Given the description of an element on the screen output the (x, y) to click on. 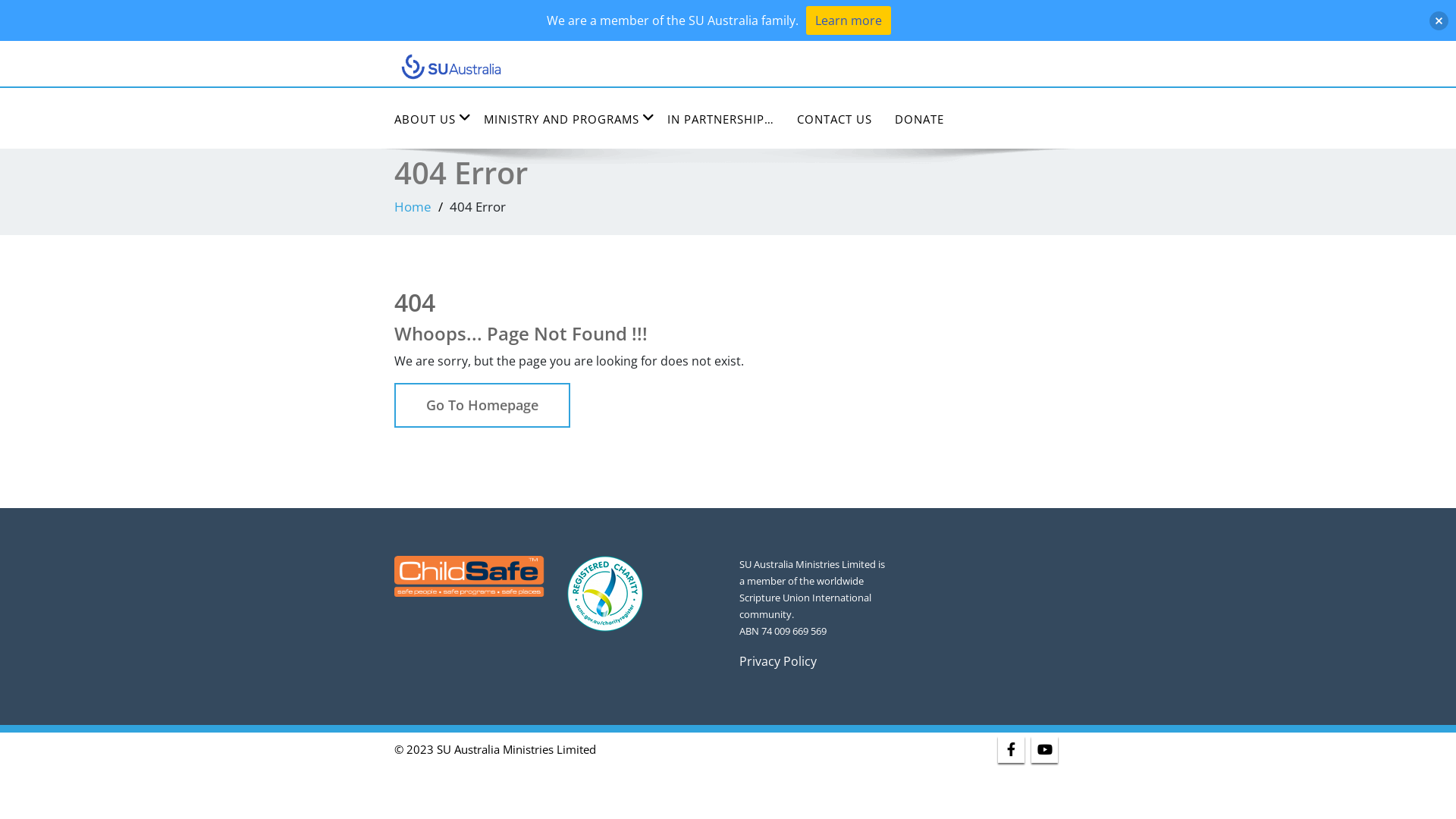
Home Element type: text (412, 206)
Privacy Policy Element type: text (777, 660)
Learn more Element type: text (847, 20)
CONTACT US Element type: text (834, 119)
MINISTRY AND PROGRAMS Element type: text (563, 119)
ABOUT US Element type: text (427, 119)
Go To Homepage Element type: text (482, 405)
Go To Homepage Element type: text (482, 403)
DONATE Element type: text (919, 119)
